Given the description of an element on the screen output the (x, y) to click on. 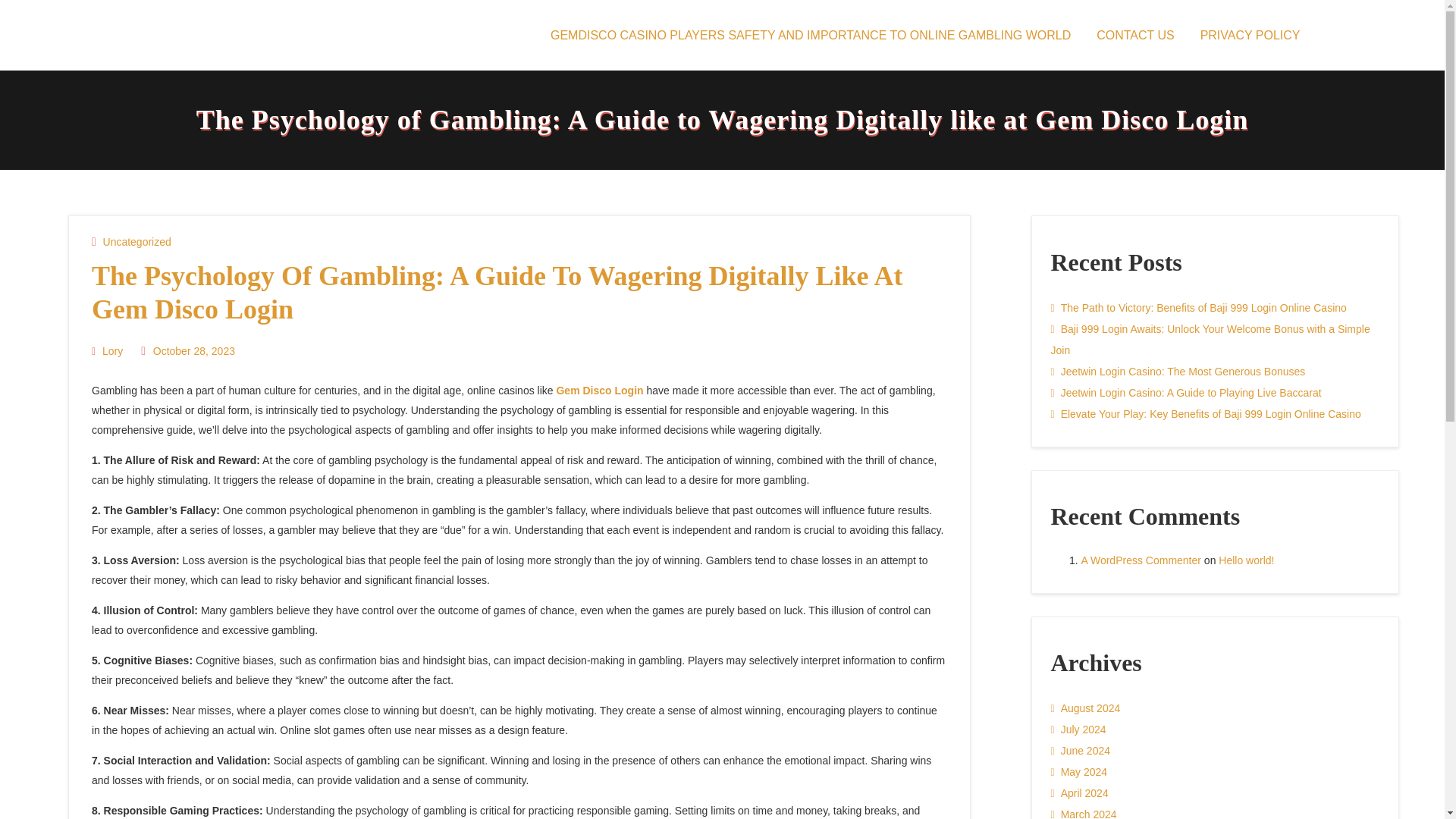
August 2024 (1086, 708)
Jeetwin Login Casino: The Most Generous Bonuses (1178, 371)
Hello world! (1246, 560)
Uncategorized (137, 241)
Lory (110, 351)
A WordPress Commenter (1141, 560)
April 2024 (1079, 792)
3:19 am (191, 351)
PRIVACY POLICY (1250, 35)
March 2024 (1083, 811)
July 2024 (1078, 729)
Jeetwin Login Casino: A Guide to Playing Live Baccarat (1186, 392)
